Given the description of an element on the screen output the (x, y) to click on. 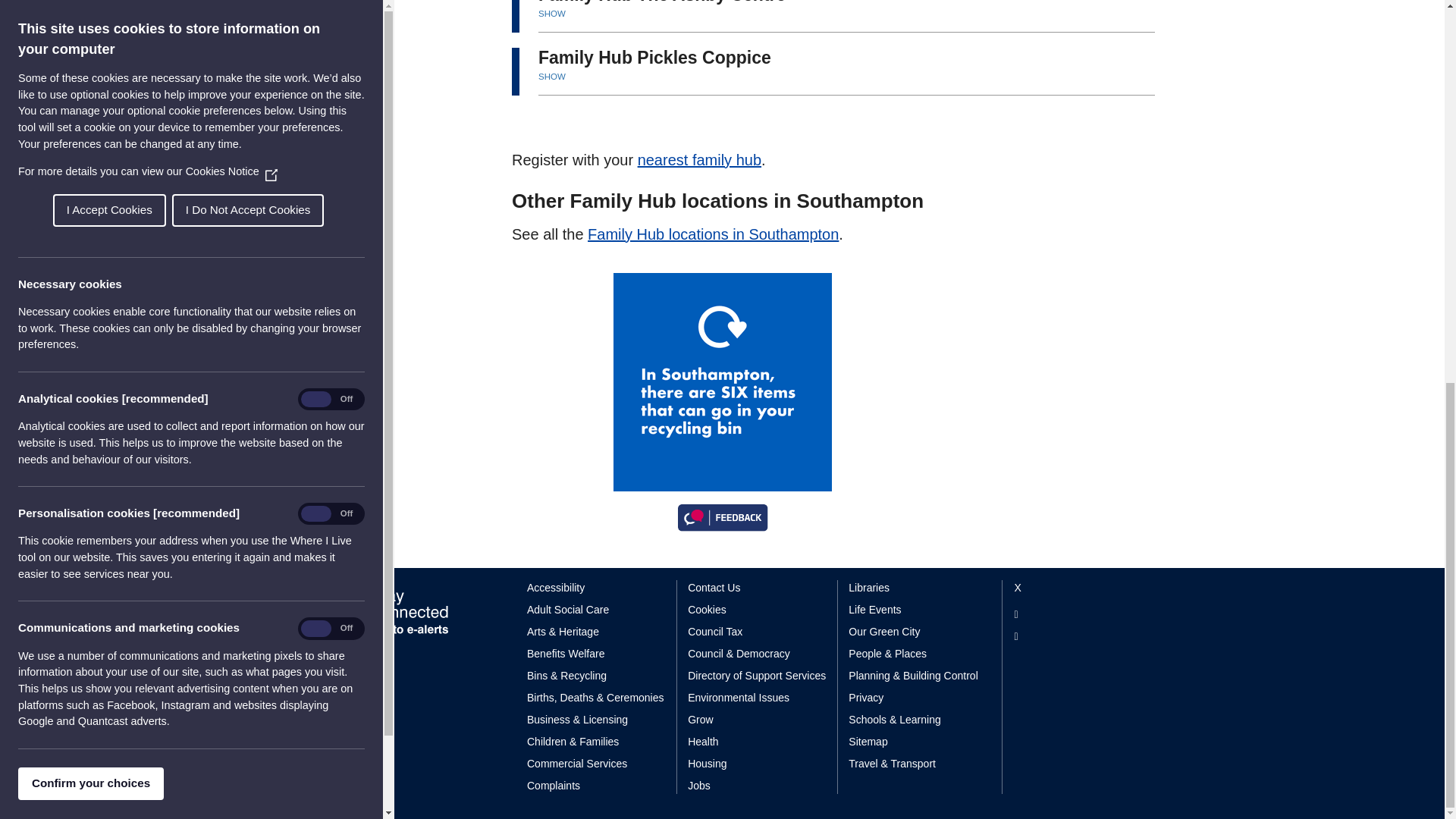
Accessibility (596, 587)
View our profile on X (1072, 587)
View our profile on YouTube (1072, 636)
View our profile on Facebook (1072, 614)
Family Hub locations in Southampton (713, 234)
Register with your nearest family hub (699, 159)
Give us feedback about this page (722, 516)
nearest family hub (699, 159)
Family hub locations (713, 234)
Adult Social Care (596, 609)
